Given the description of an element on the screen output the (x, y) to click on. 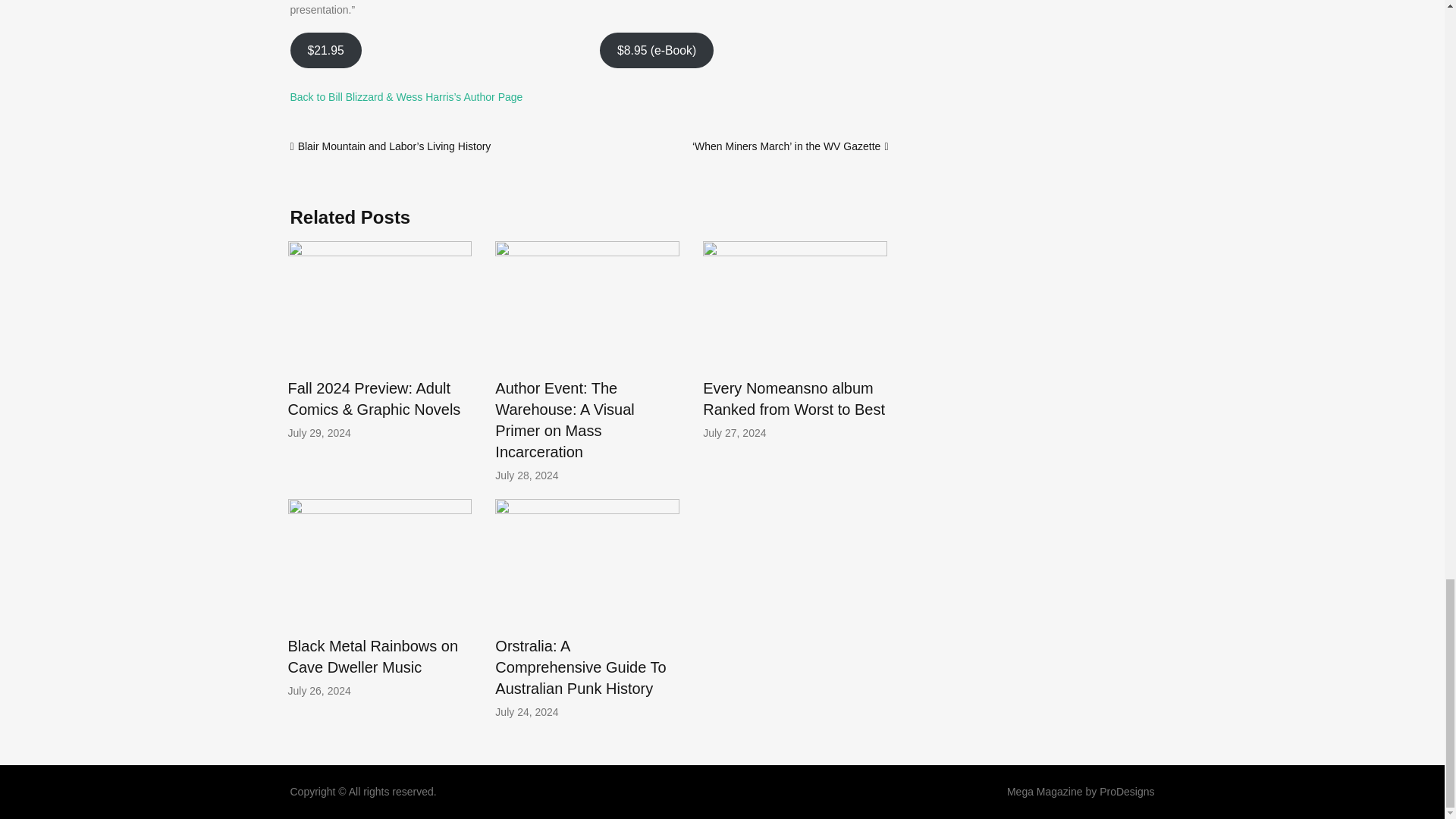
Orstralia: A Comprehensive Guide To Australian Punk History (580, 667)
Black Metal Rainbows on Cave Dweller Music (373, 656)
Every Nomeansno album Ranked from Worst to Best (794, 398)
